Given the description of an element on the screen output the (x, y) to click on. 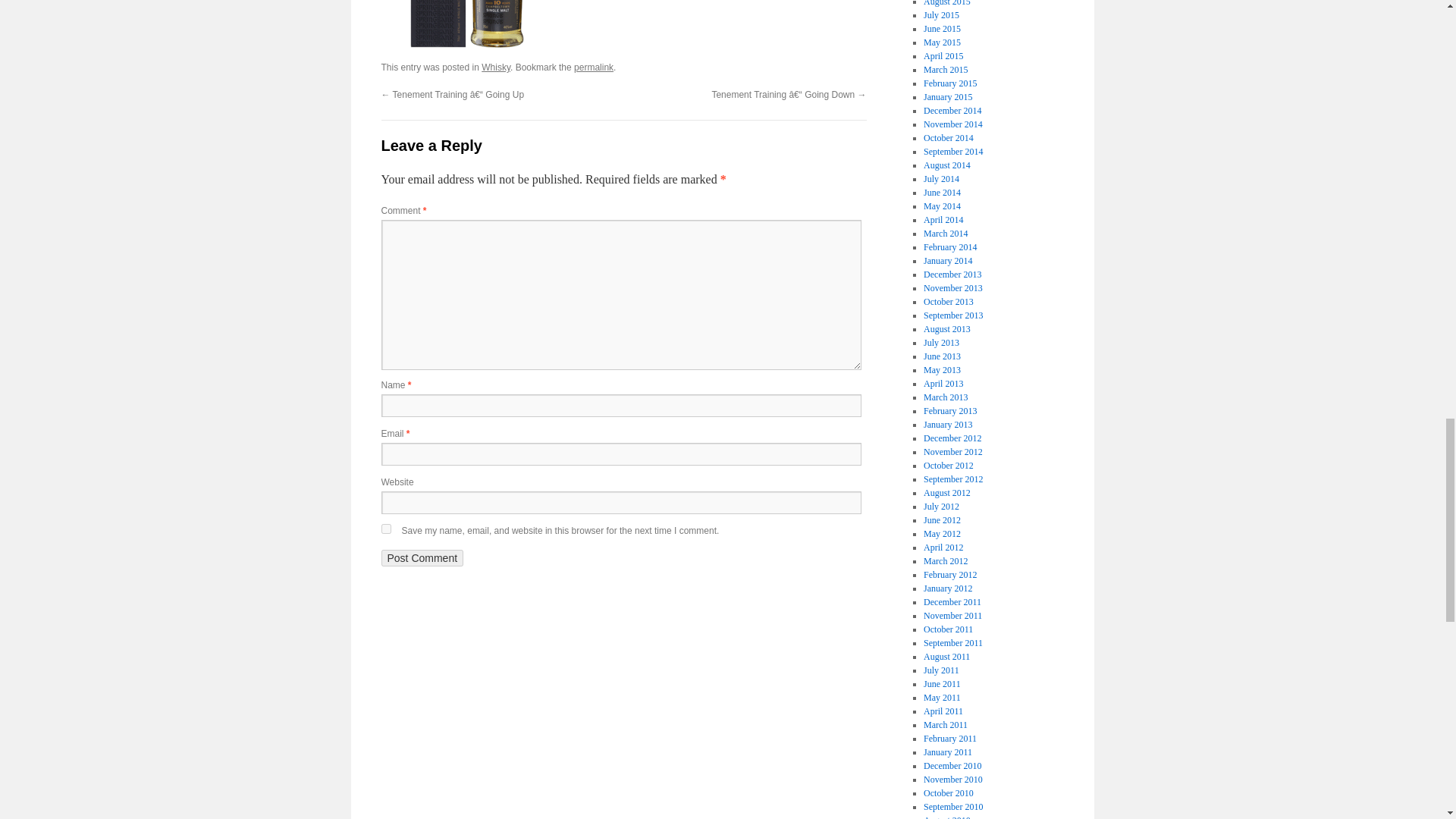
Post Comment (421, 557)
Post Comment (421, 557)
springbank-10 year old (467, 25)
yes (385, 528)
Permalink to Happy 180th Birthday, Springbank! (592, 67)
Whisky (496, 67)
permalink (592, 67)
